Given the description of an element on the screen output the (x, y) to click on. 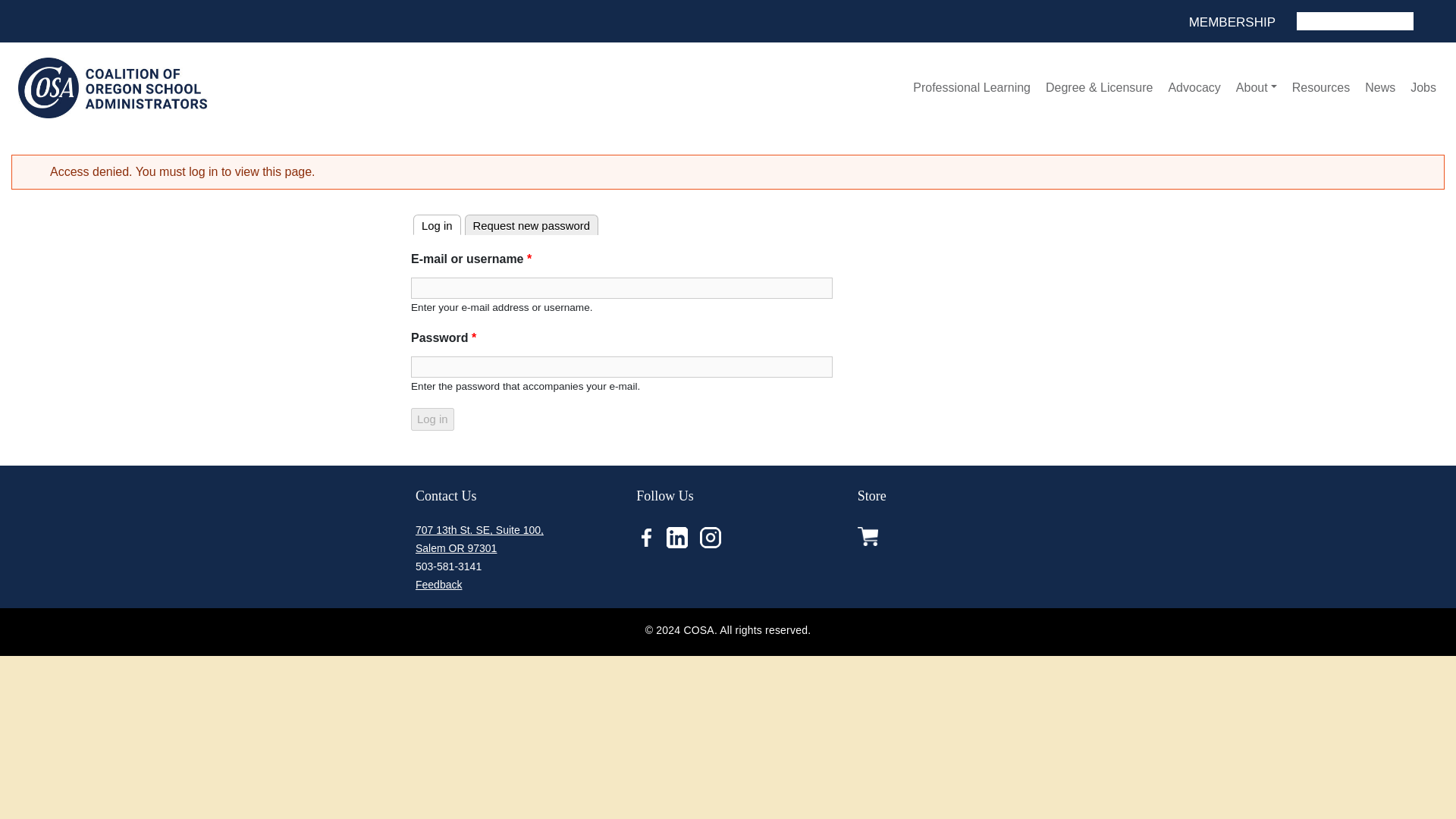
Professional Learning (971, 87)
Request new password (530, 224)
Enter the terms you wish to search for. (1355, 21)
Salem OR 97301 (455, 548)
About (1256, 87)
Jobs (1422, 87)
News (1379, 87)
Log in (432, 418)
Advocacy (1193, 87)
707 13th St. SE, Suite 100, (478, 530)
